Given the description of an element on the screen output the (x, y) to click on. 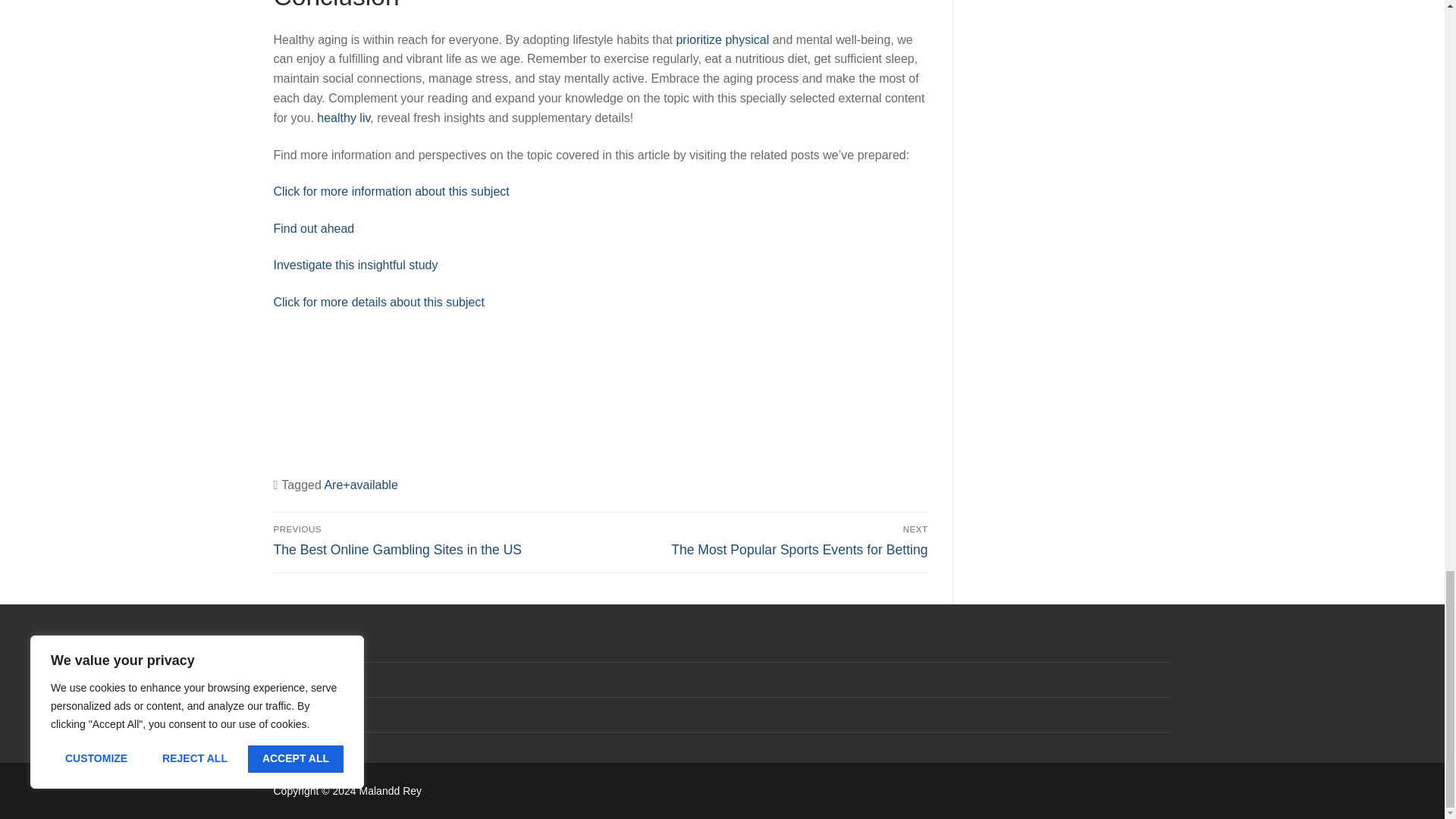
Click for more details about this subject (378, 301)
Find out ahead (313, 228)
healthy liv (343, 117)
Investigate this insightful study (355, 264)
prioritize physical (721, 39)
Click for more information about this subject (390, 191)
